Given the description of an element on the screen output the (x, y) to click on. 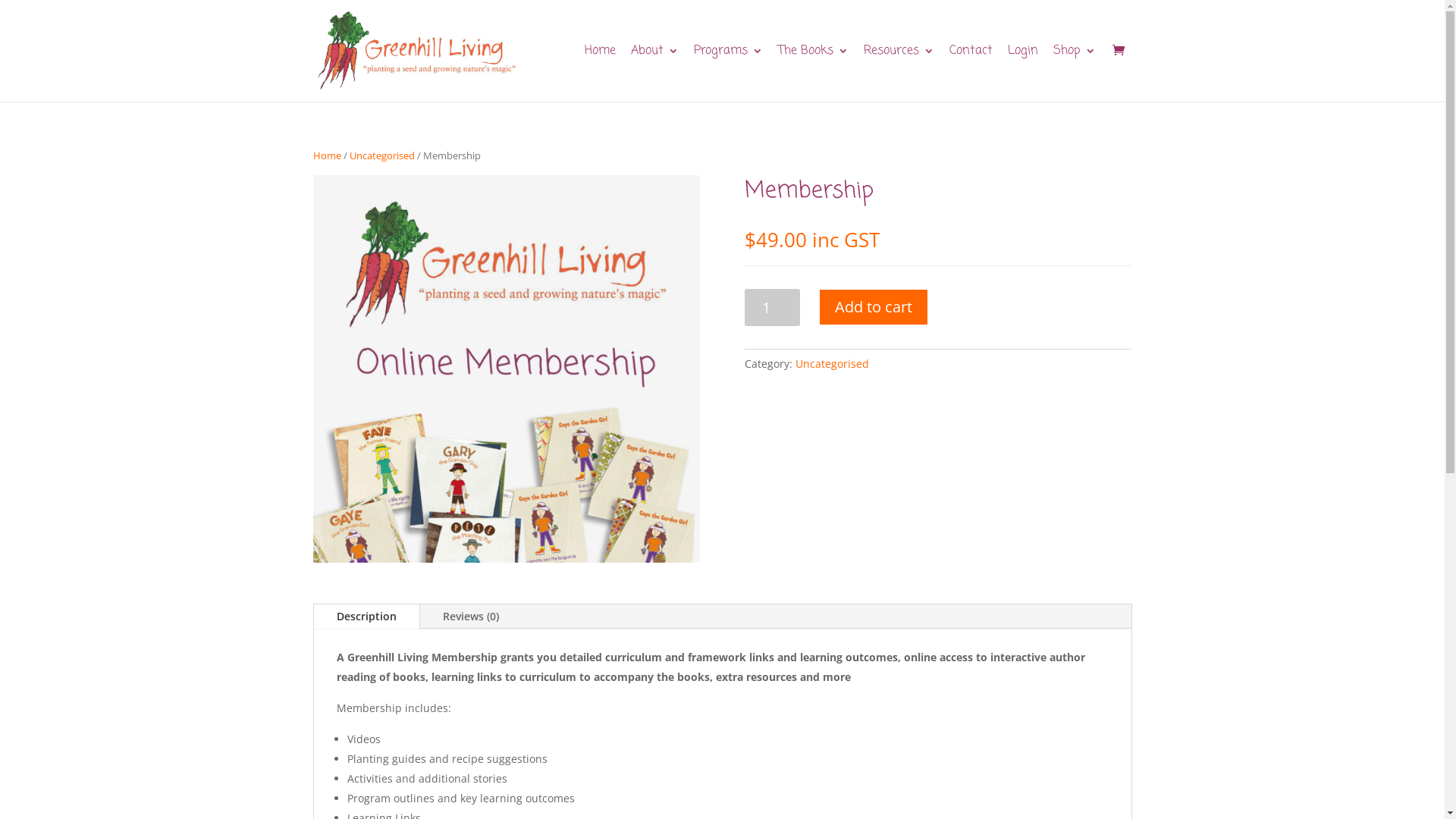
Reviews (0) Element type: text (470, 616)
Contact Element type: text (970, 73)
Uncategorised Element type: text (832, 363)
Resources Element type: text (897, 73)
Shop Element type: text (1073, 73)
About Element type: text (654, 73)
ghl-membership-image Element type: hover (505, 368)
Home Element type: text (599, 73)
Uncategorised Element type: text (381, 155)
Login Element type: text (1022, 73)
Add to cart Element type: text (873, 307)
The Books Element type: text (813, 73)
Qty Element type: hover (772, 307)
Programs Element type: text (727, 73)
Description Element type: text (366, 616)
Home Element type: text (326, 155)
